Given the description of an element on the screen output the (x, y) to click on. 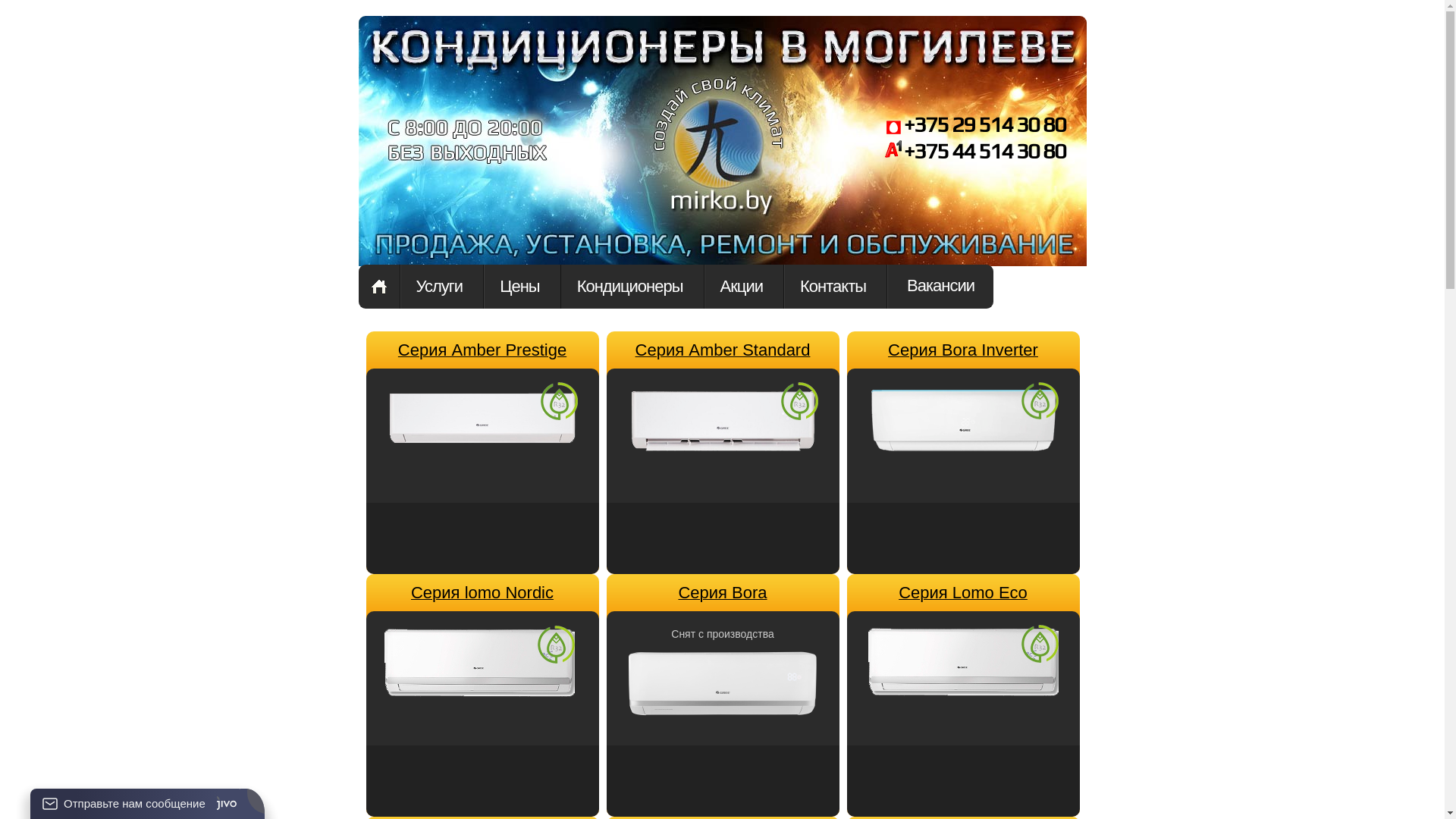
Home Element type: text (377, 286)
mirkon.by Element type: text (717, 157)
